Given the description of an element on the screen output the (x, y) to click on. 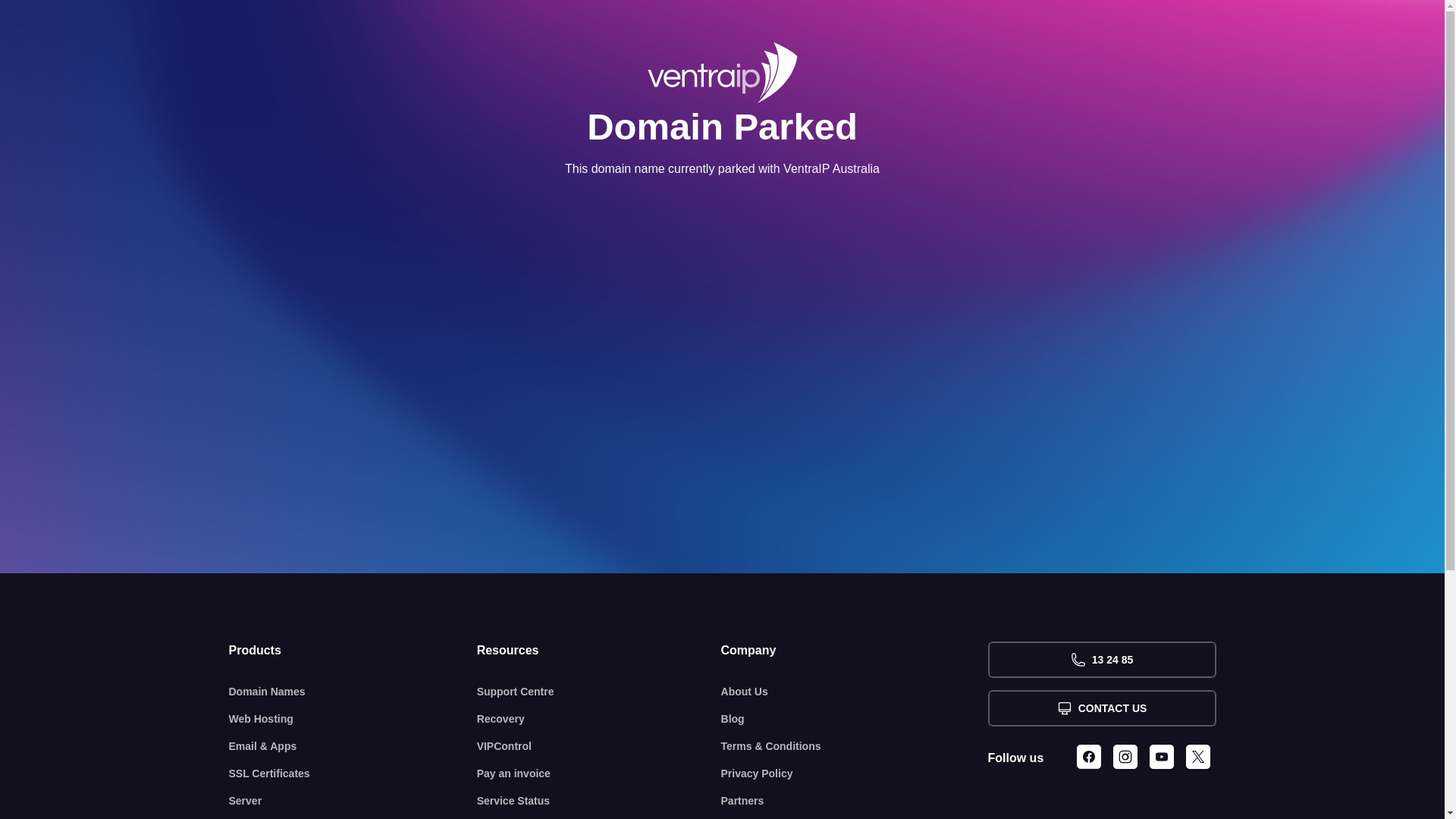
CONTACT US Element type: text (1101, 708)
Support Centre Element type: text (598, 691)
Partners Element type: text (854, 800)
Service Status Element type: text (598, 800)
About Us Element type: text (854, 691)
13 24 85 Element type: text (1101, 659)
Pay an invoice Element type: text (598, 773)
SSL Certificates Element type: text (352, 773)
Server Element type: text (352, 800)
Recovery Element type: text (598, 718)
Web Hosting Element type: text (352, 718)
VIPControl Element type: text (598, 745)
Email & Apps Element type: text (352, 745)
Terms & Conditions Element type: text (854, 745)
Domain Names Element type: text (352, 691)
Blog Element type: text (854, 718)
Privacy Policy Element type: text (854, 773)
